Given the description of an element on the screen output the (x, y) to click on. 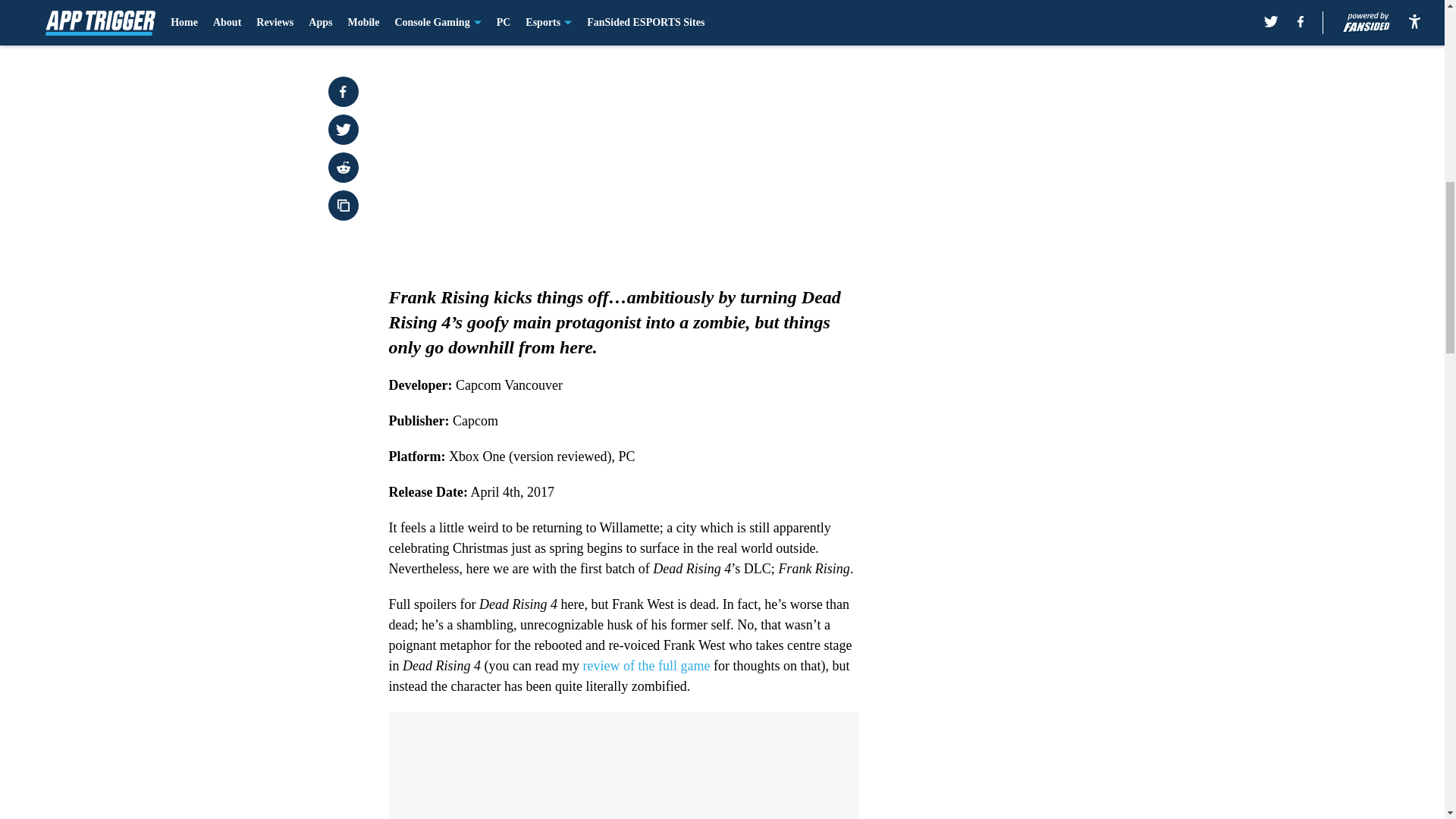
review of the full game (646, 665)
